Given the description of an element on the screen output the (x, y) to click on. 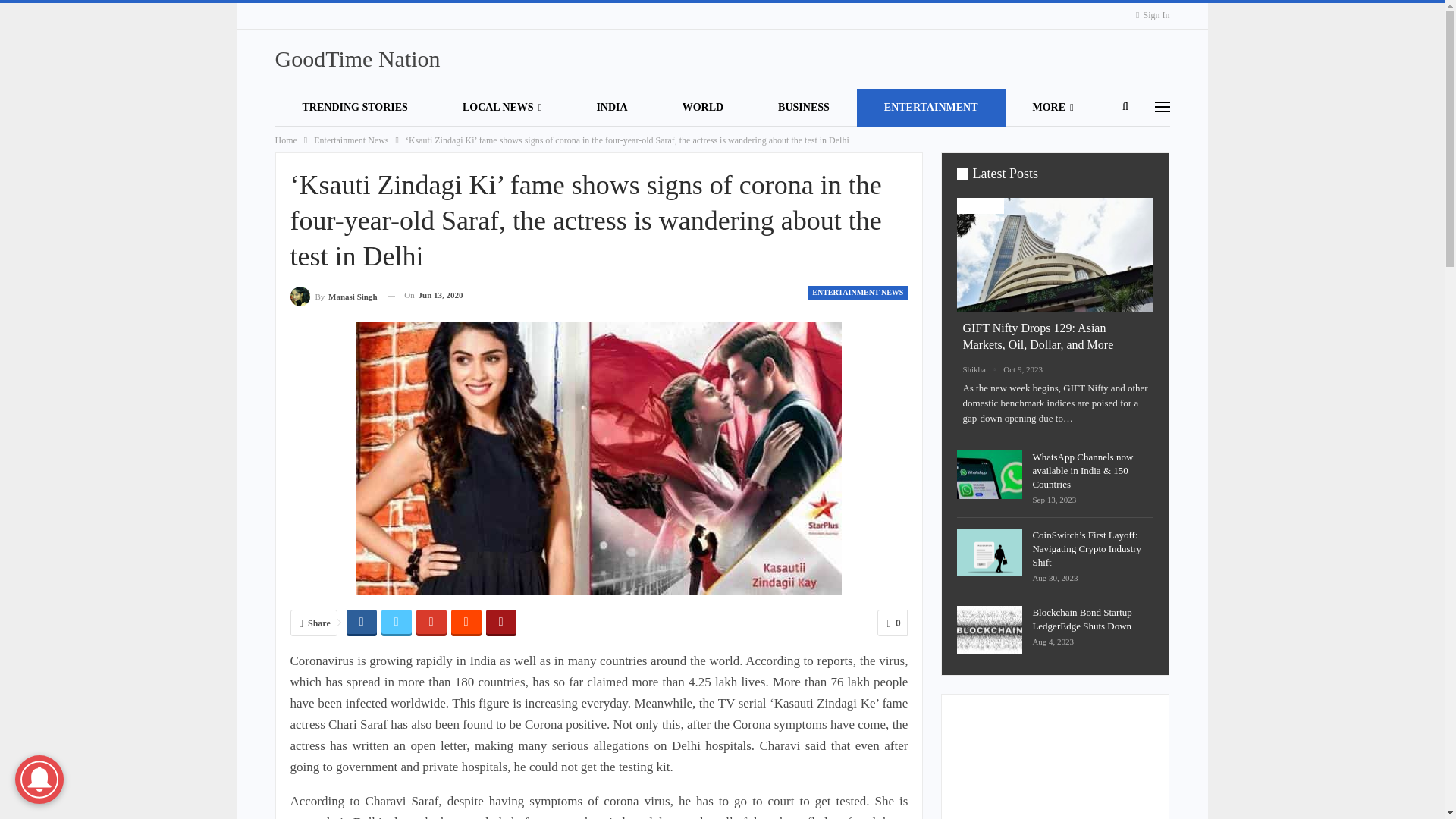
INDIA (611, 107)
ENTERTAINMENT (931, 107)
TRENDING STORIES (354, 107)
ENTERTAINMENT NEWS (857, 292)
Browse Author Articles (333, 295)
Sign In (1152, 14)
Entertainment News (351, 139)
BUSINESS (804, 107)
MORE (1053, 107)
Home (286, 139)
GoodTime Nation (357, 58)
WORLD (703, 107)
LOCAL NEWS (502, 107)
0 (892, 622)
By Manasi Singh (333, 295)
